Given the description of an element on the screen output the (x, y) to click on. 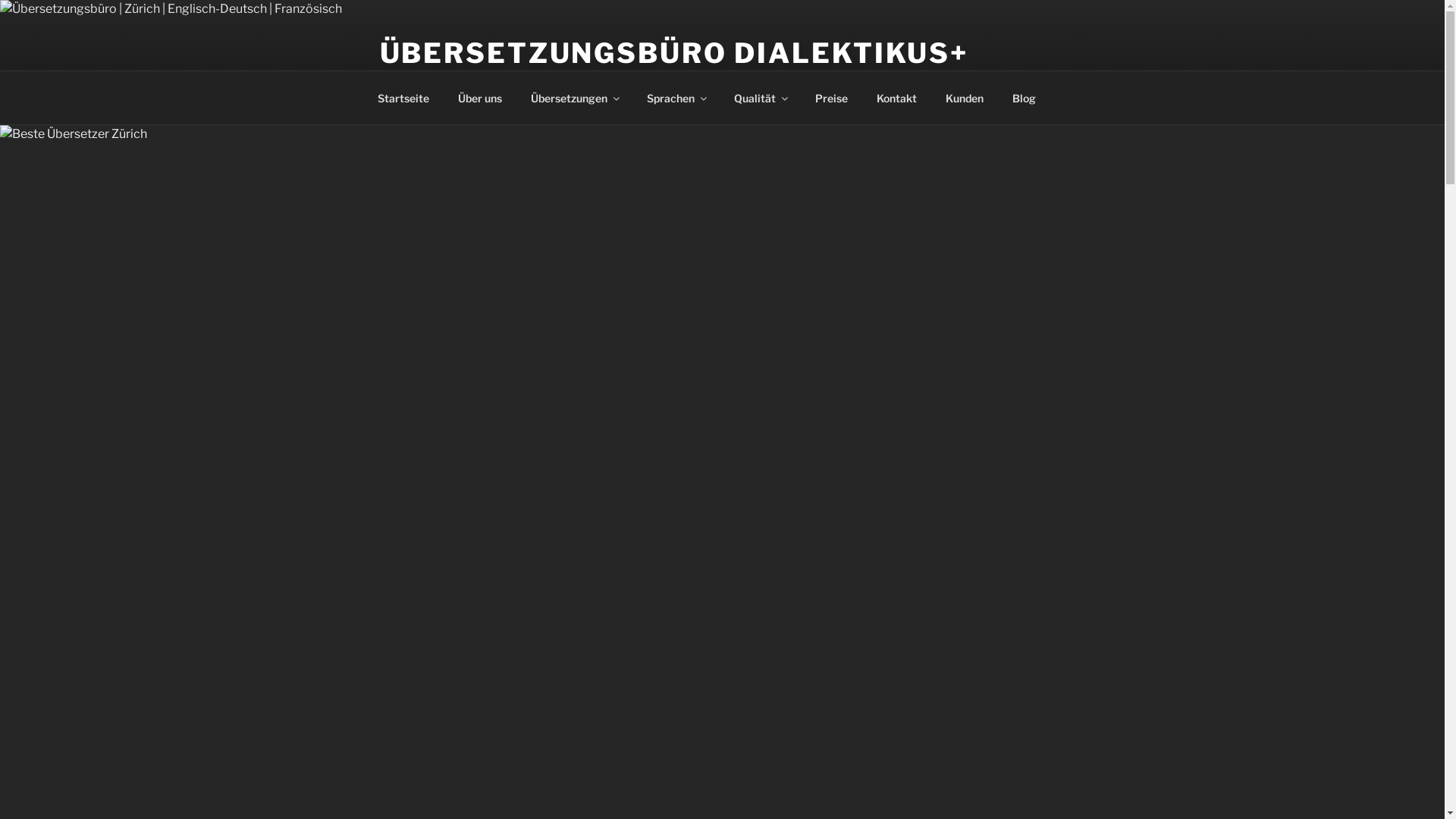
Kontakt Element type: text (895, 97)
Kunden Element type: text (964, 97)
Startseite Element type: text (403, 97)
Sprachen Element type: text (675, 97)
Preise Element type: text (831, 97)
Blog Element type: text (1024, 97)
